Given the description of an element on the screen output the (x, y) to click on. 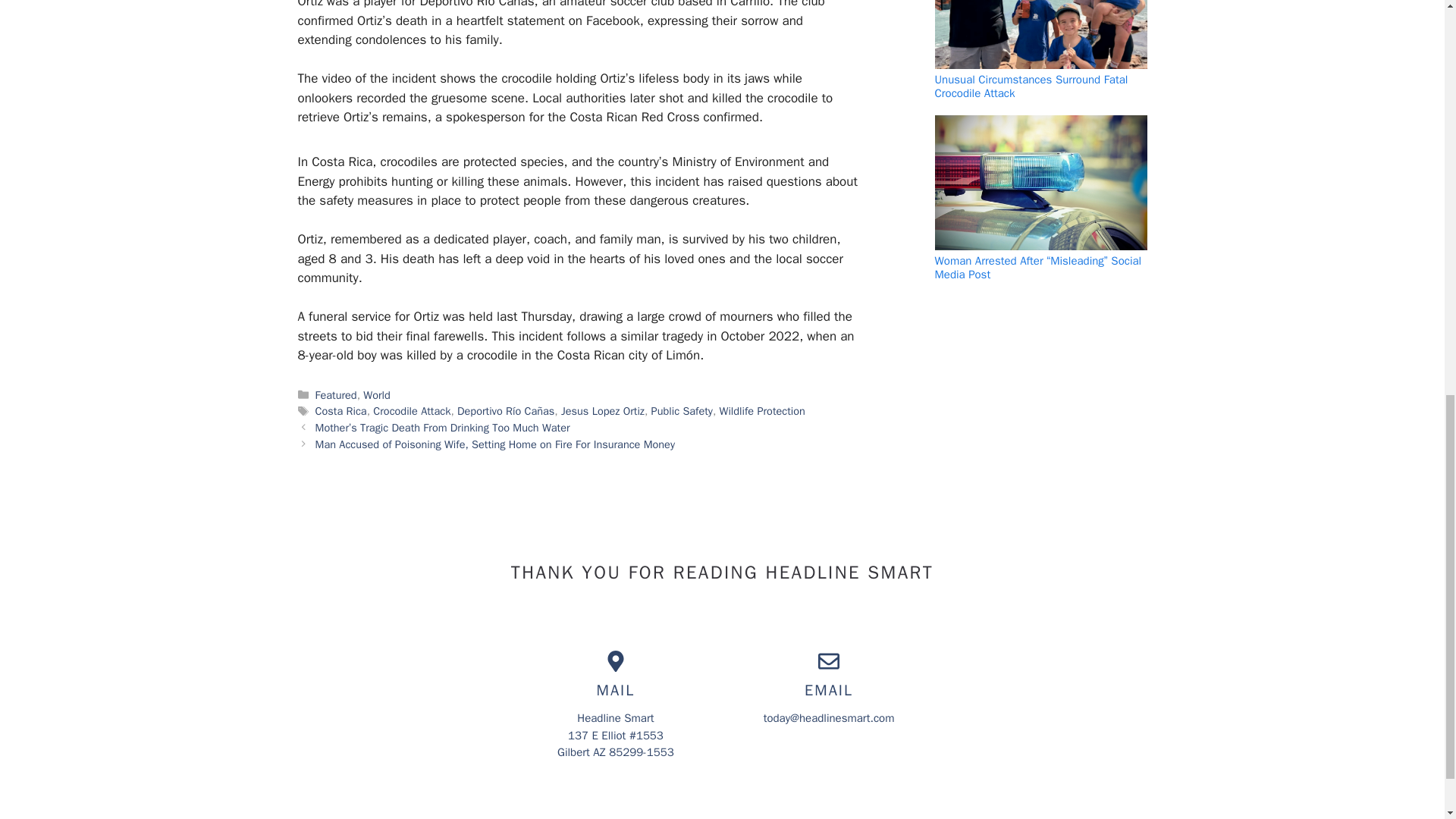
Featured (335, 395)
Costa Rica (340, 410)
Wildlife Protection (762, 410)
Unusual Circumstances Surround Fatal Crocodile Attack (1030, 85)
Jesus Lopez Ortiz (602, 410)
Public Safety (681, 410)
Crocodile Attack (410, 410)
World (376, 395)
